Given the description of an element on the screen output the (x, y) to click on. 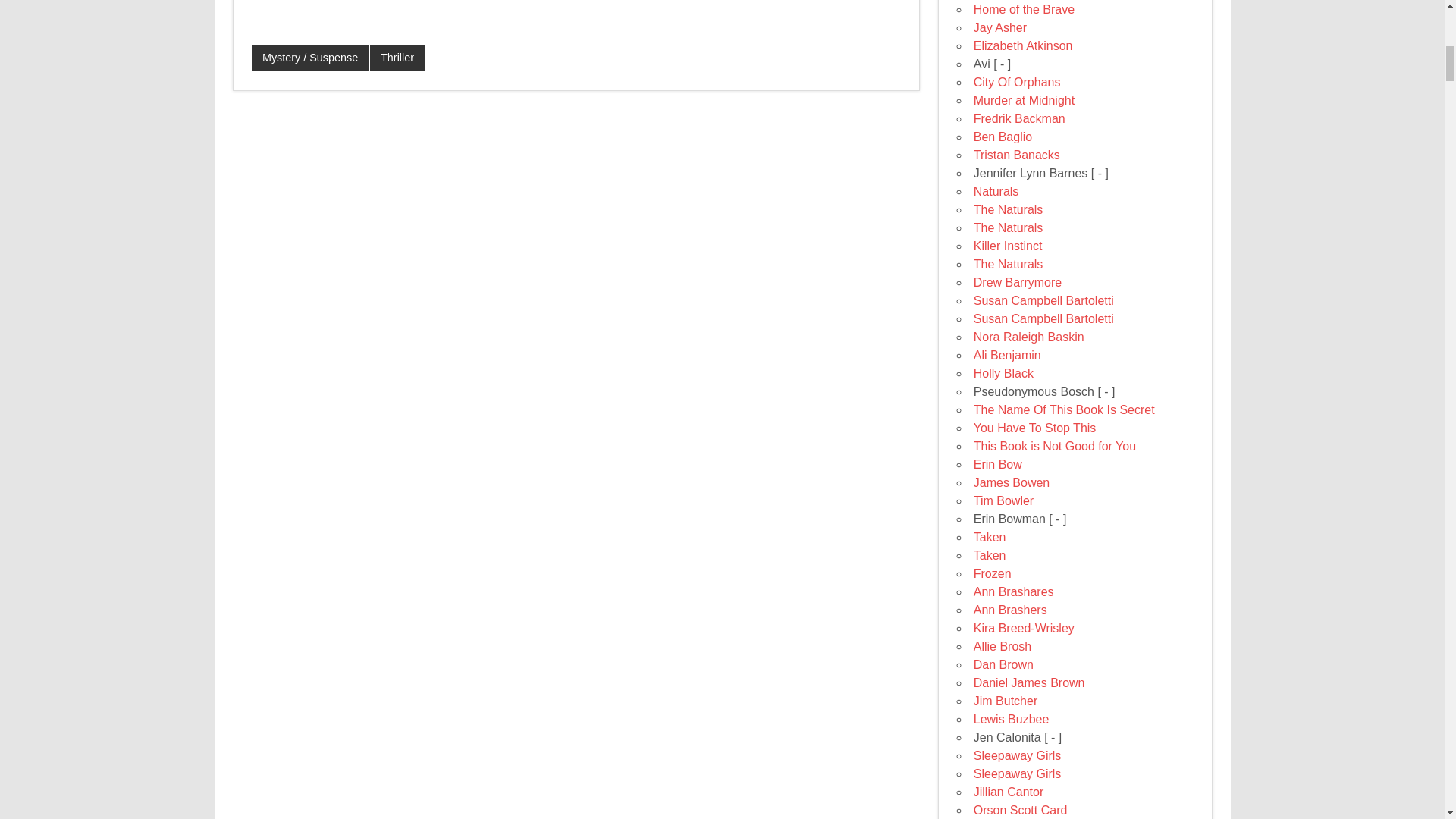
Thriller (397, 58)
